Given the description of an element on the screen output the (x, y) to click on. 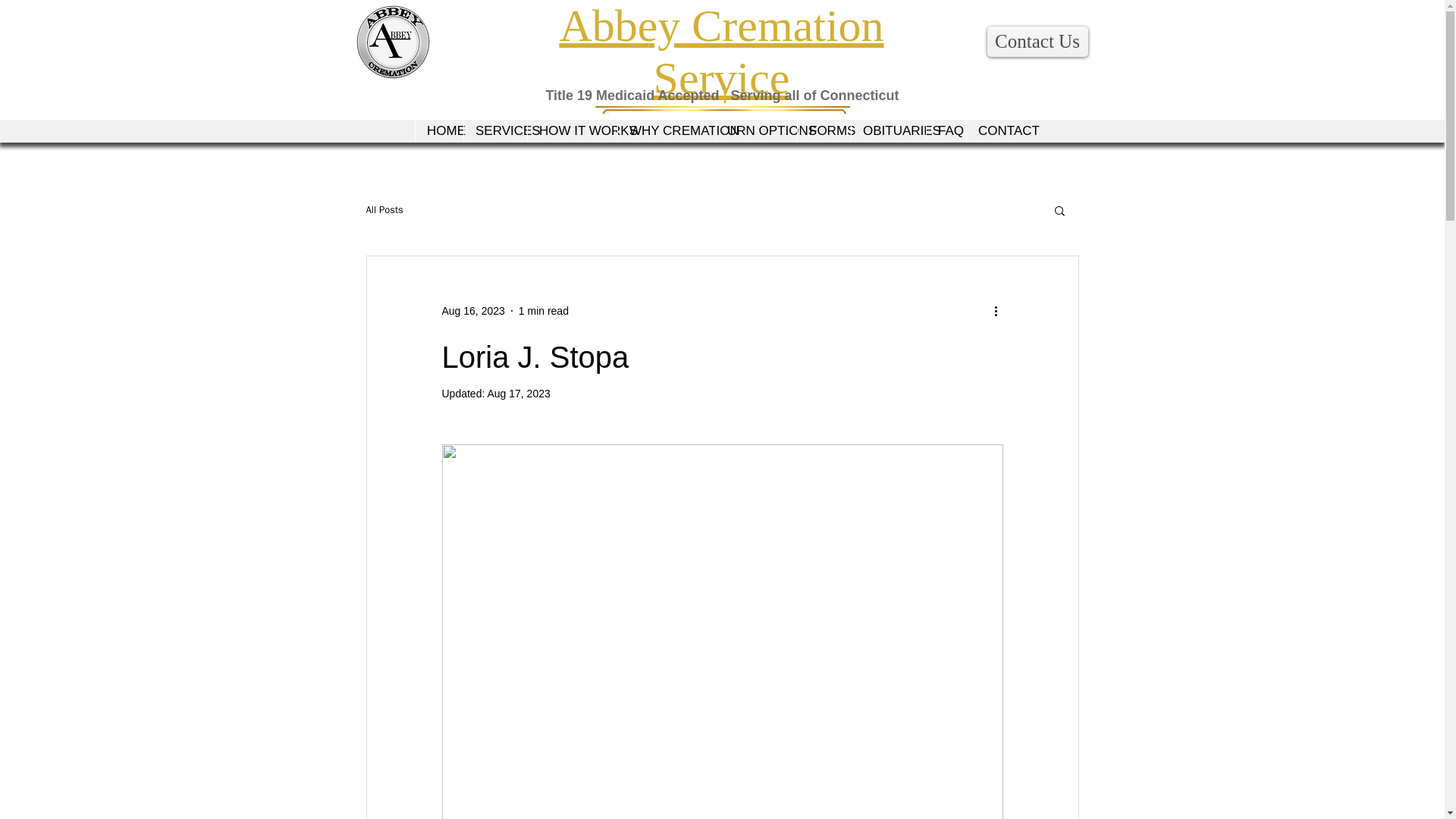
Aug 16, 2023 (472, 310)
1 min read (543, 310)
All Posts (384, 210)
OBITUARIES (888, 130)
SERVICES (495, 130)
FAQ (946, 130)
WHY CREMATION (665, 130)
Abbey Cremation Service (721, 51)
URN OPTIONS (755, 130)
HOME (438, 130)
Contact Us (1037, 41)
FORMS (823, 130)
Aug 17, 2023 (518, 393)
CONTACT (997, 130)
HOW IT WORKS (572, 130)
